Given the description of an element on the screen output the (x, y) to click on. 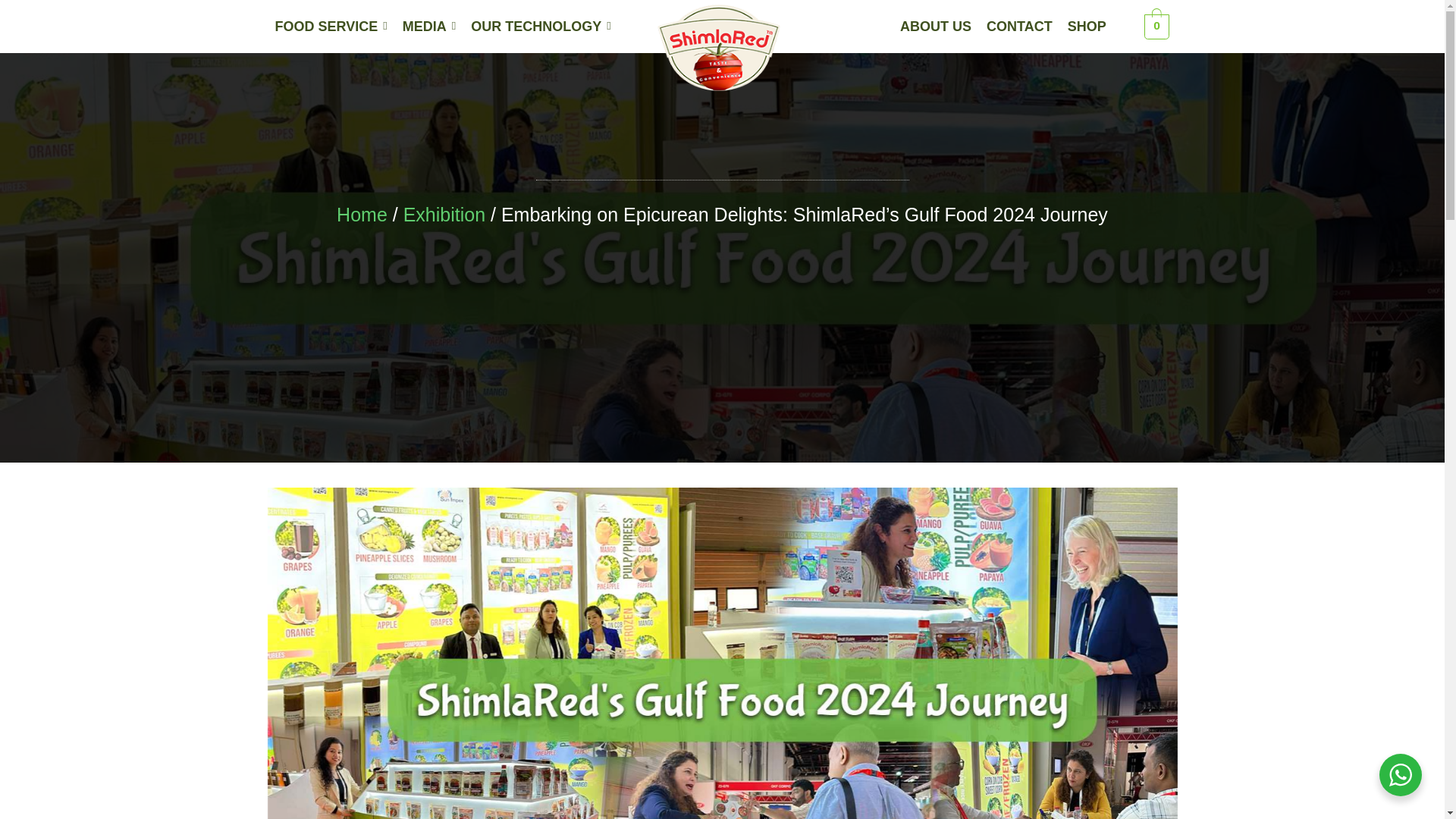
0 (1156, 25)
View your shopping cart (1156, 25)
FOOD SERVICE (331, 26)
CONTACT (1019, 26)
OUR TECHNOLOGY (540, 26)
MEDIA (429, 26)
SHOP (1086, 26)
ABOUT US (935, 26)
